Given the description of an element on the screen output the (x, y) to click on. 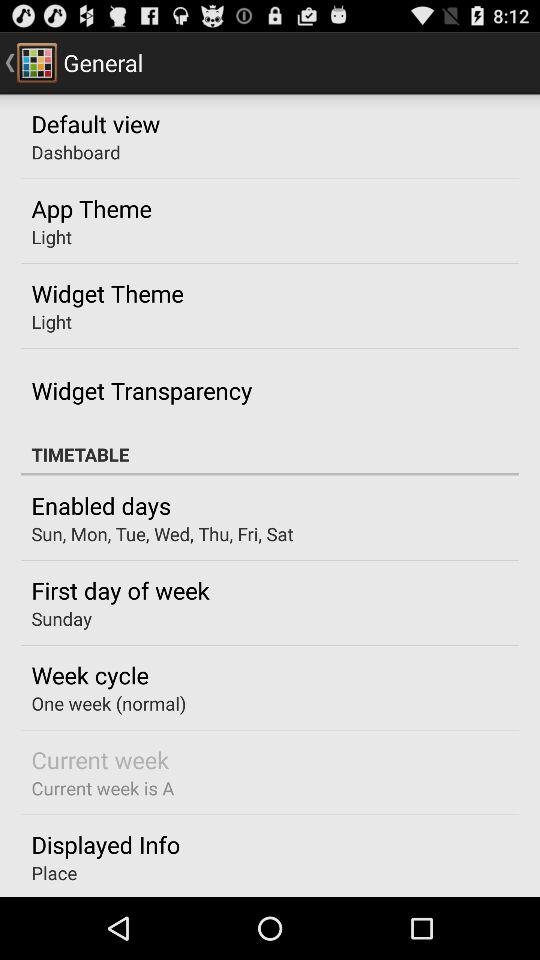
select the icon above the app theme item (75, 151)
